Given the description of an element on the screen output the (x, y) to click on. 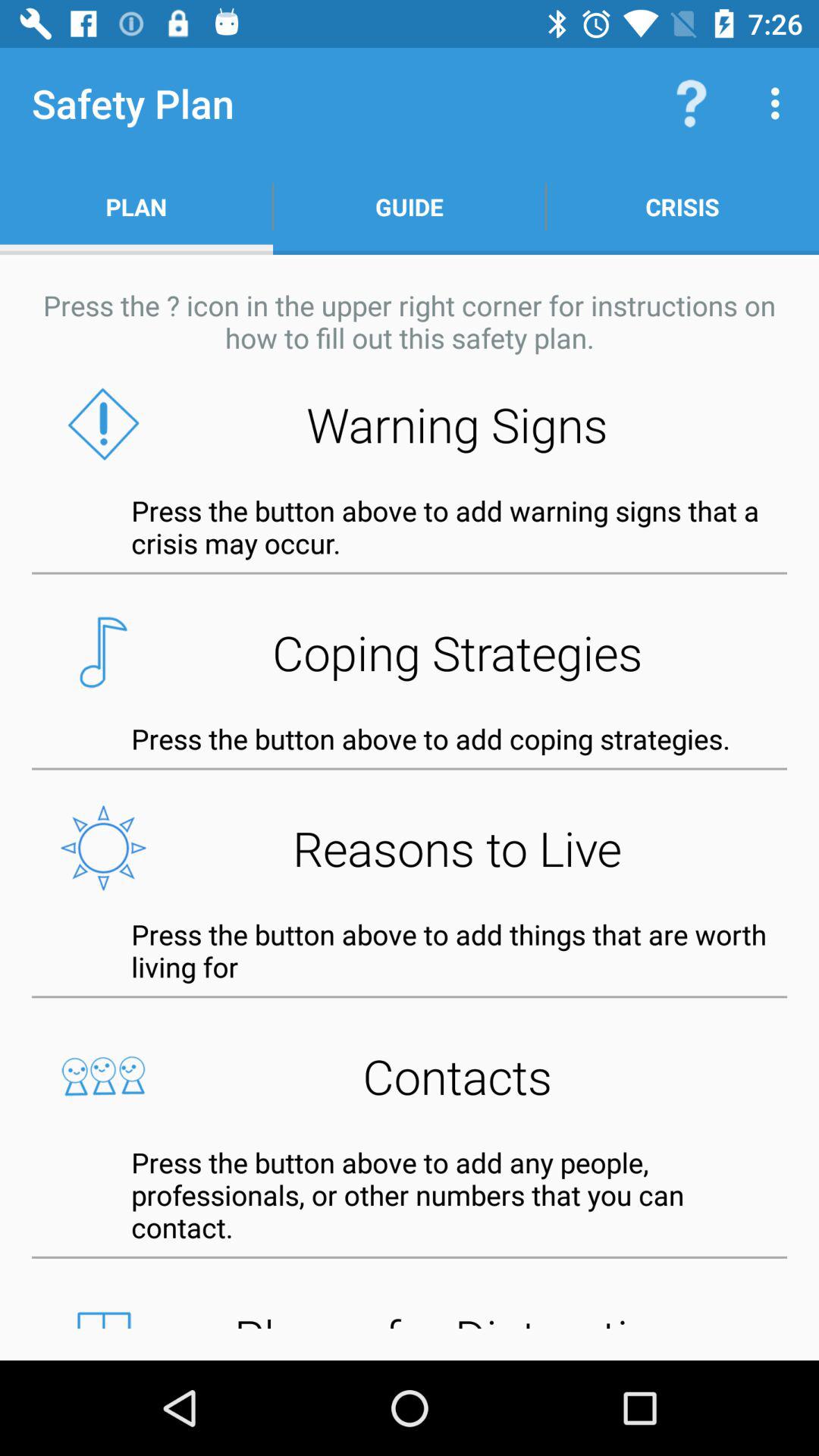
turn on the app to the left of crisis icon (409, 206)
